Given the description of an element on the screen output the (x, y) to click on. 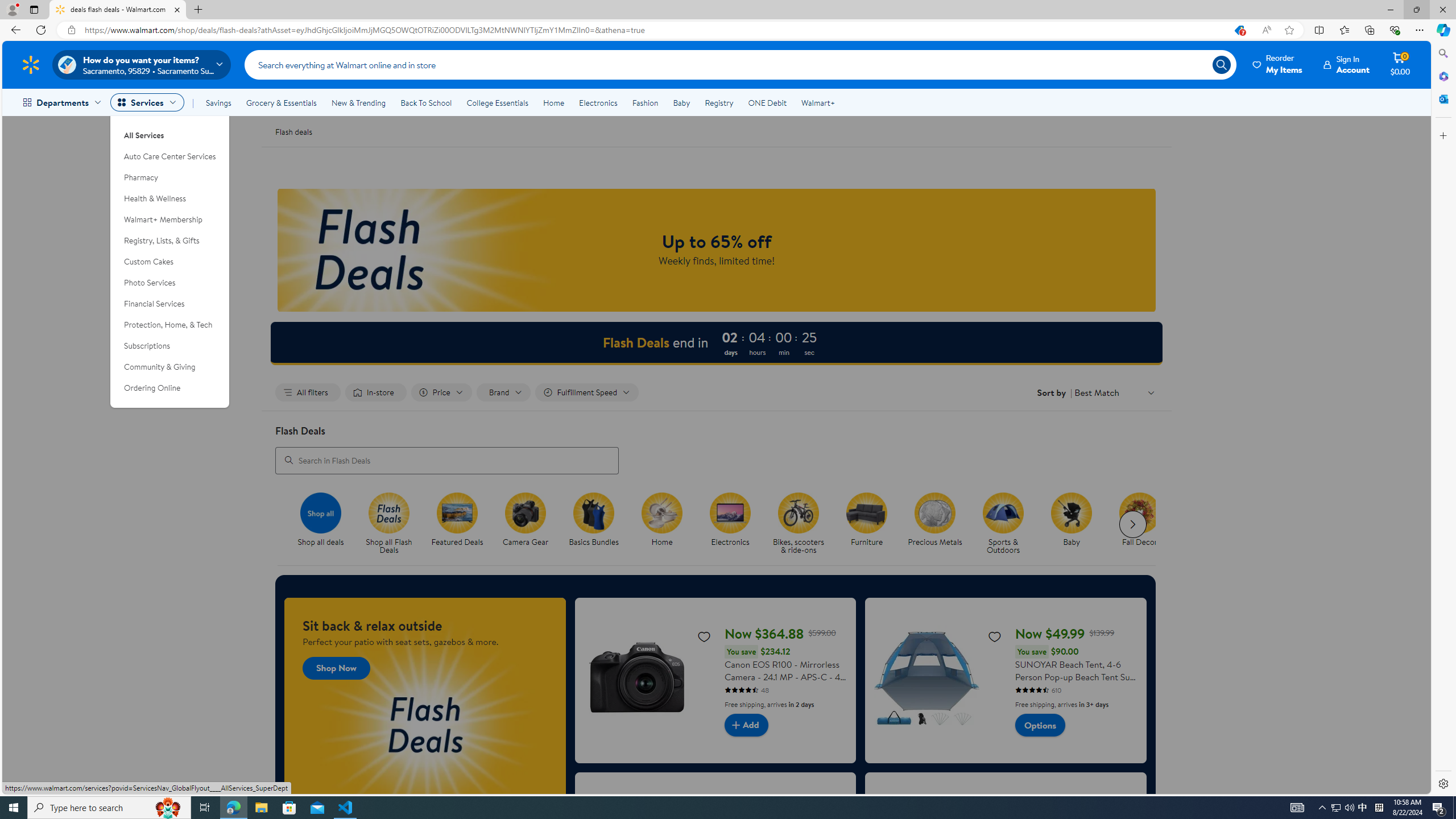
Baby (681, 102)
Subscriptions (170, 345)
Fall Decor Fall Decor (1139, 519)
This site has coupons! Shopping in Microsoft Edge, 7 (1239, 29)
Furniture (865, 512)
New & Trending (358, 102)
Financial Services (170, 303)
Furniture Furniture (866, 519)
Shop all deals (325, 524)
Featured Deals Featured Deals (457, 519)
Sports & Outdoors (1008, 524)
Precious Metals (939, 524)
Sports & Outdoors Sports & Outdoors (1003, 524)
